Given the description of an element on the screen output the (x, y) to click on. 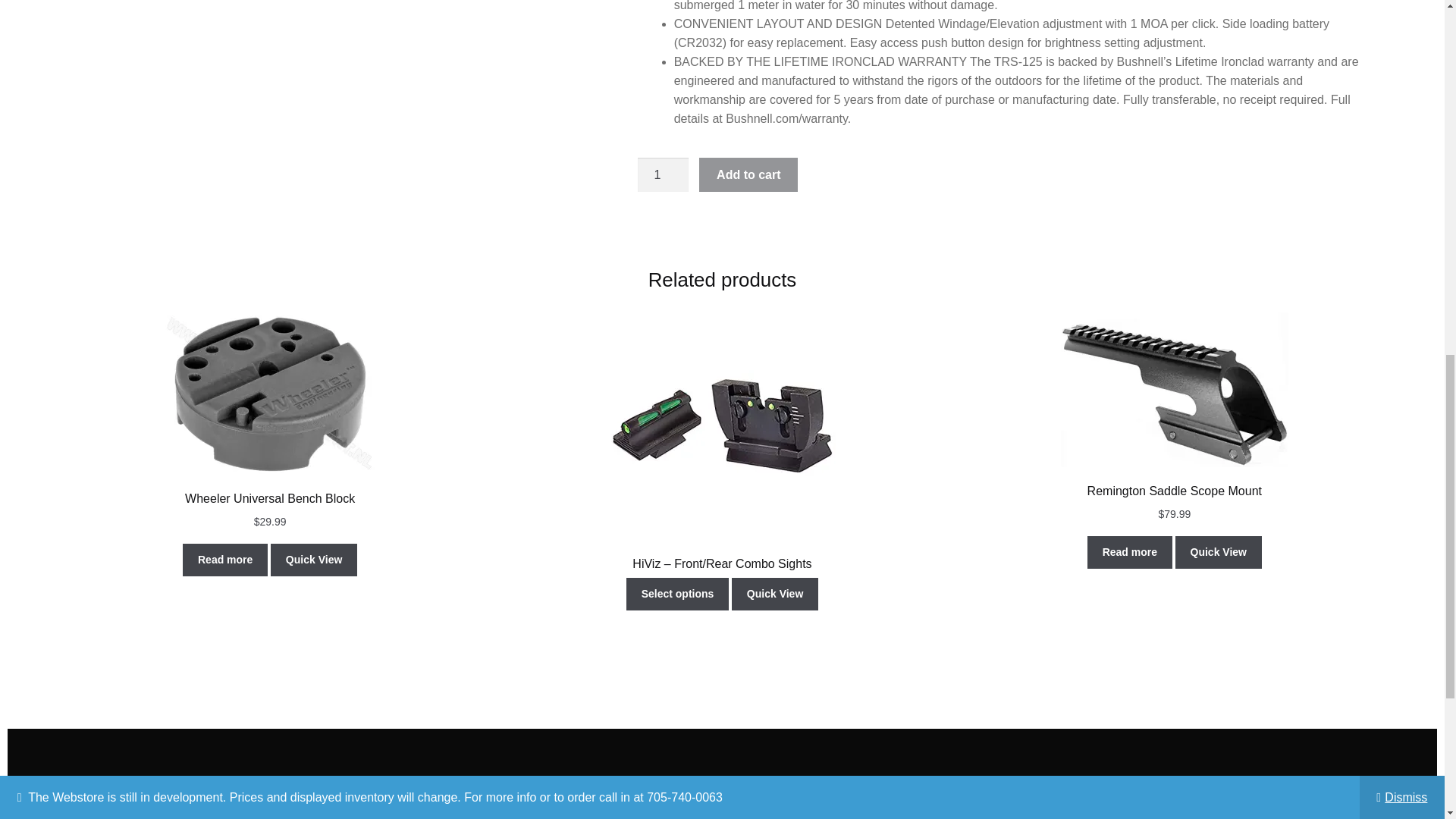
1 (662, 175)
